Given the description of an element on the screen output the (x, y) to click on. 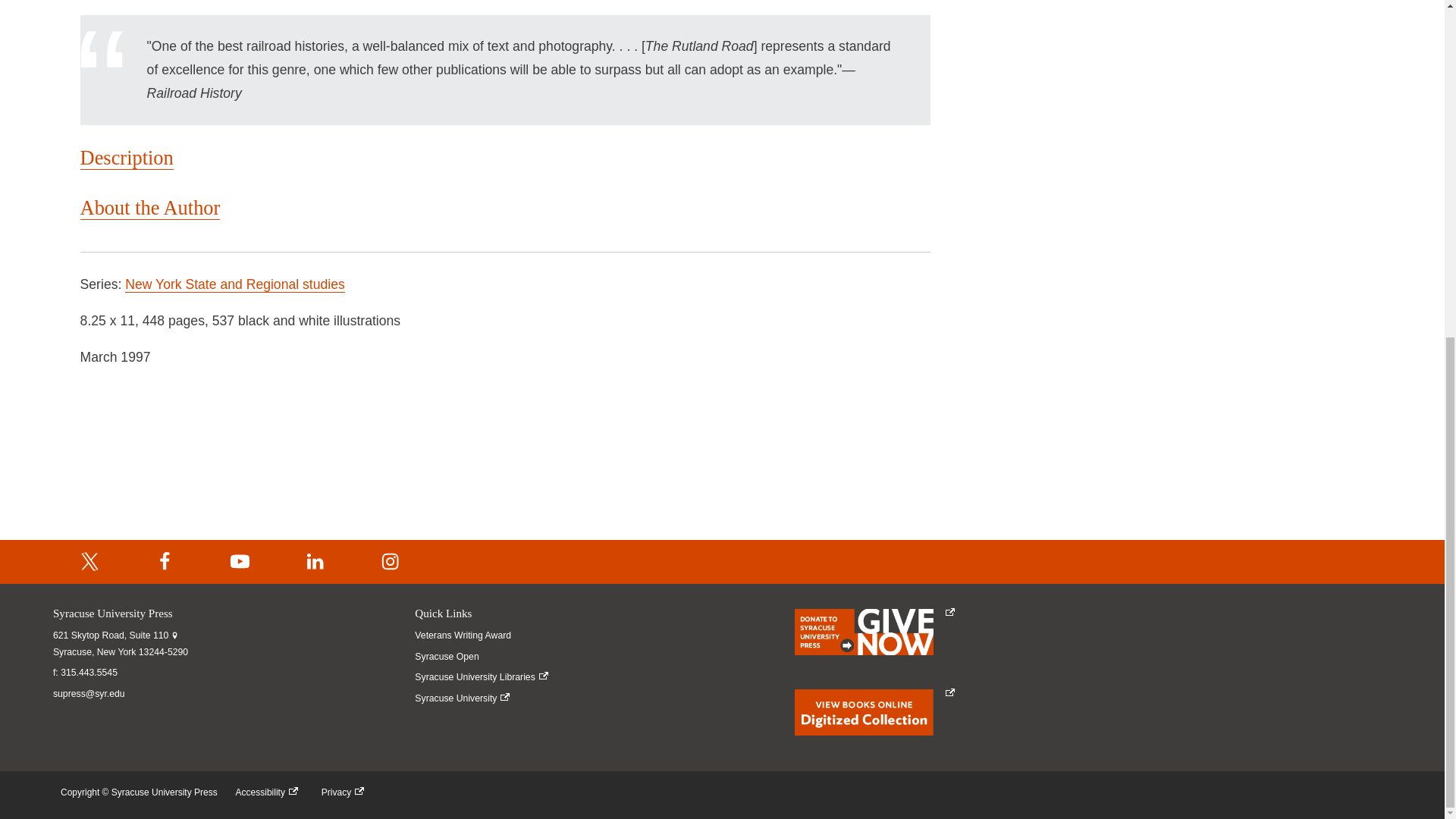
Accessibility (270, 792)
YouTube (240, 562)
Facebook (165, 562)
New York State and Regional studies (235, 284)
Instagram (390, 562)
Open location in Google Maps (119, 644)
Privacy (345, 792)
X (90, 562)
Veterans Writing Award (483, 635)
